Given the description of an element on the screen output the (x, y) to click on. 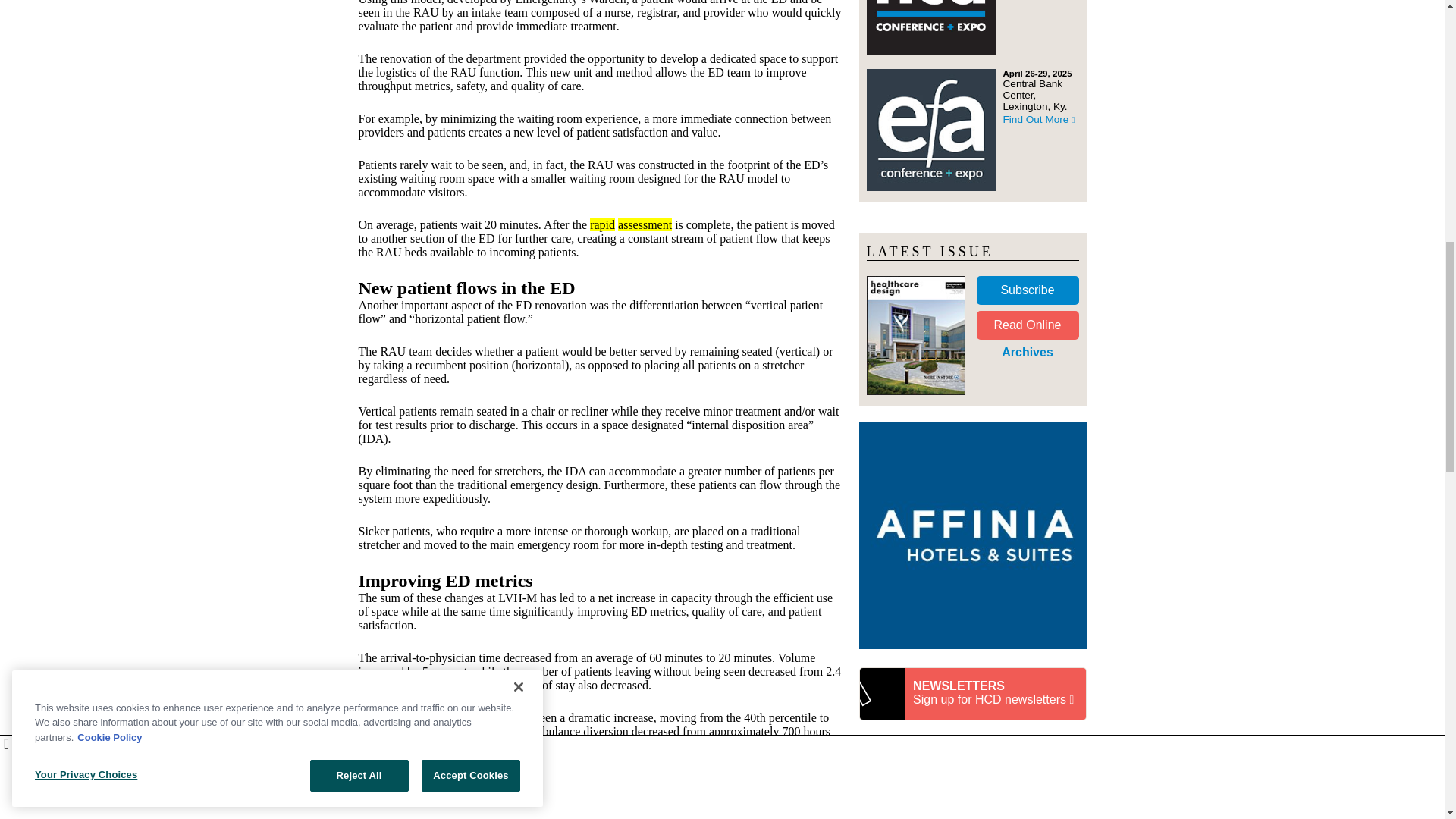
3rd party ad content (972, 777)
